Given the description of an element on the screen output the (x, y) to click on. 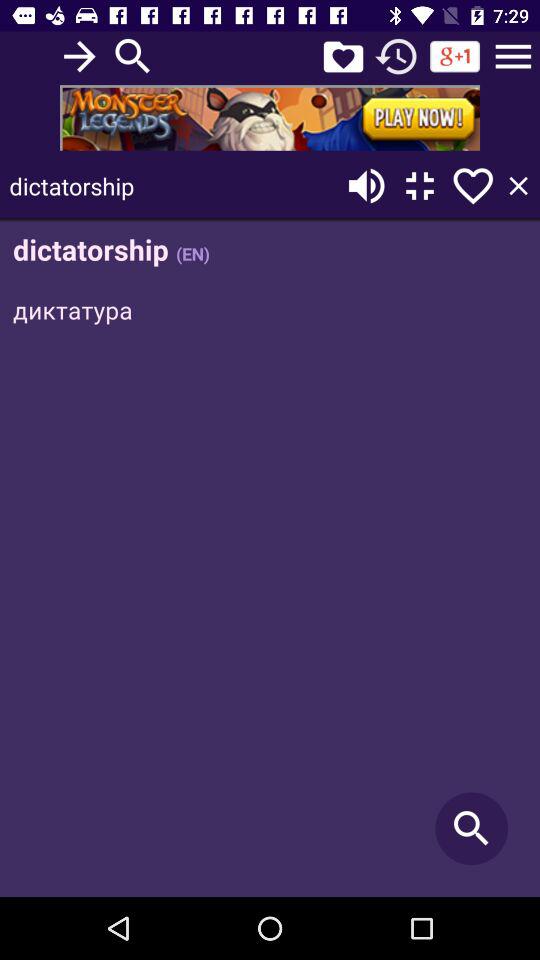
go to advertisement (270, 117)
